Given the description of an element on the screen output the (x, y) to click on. 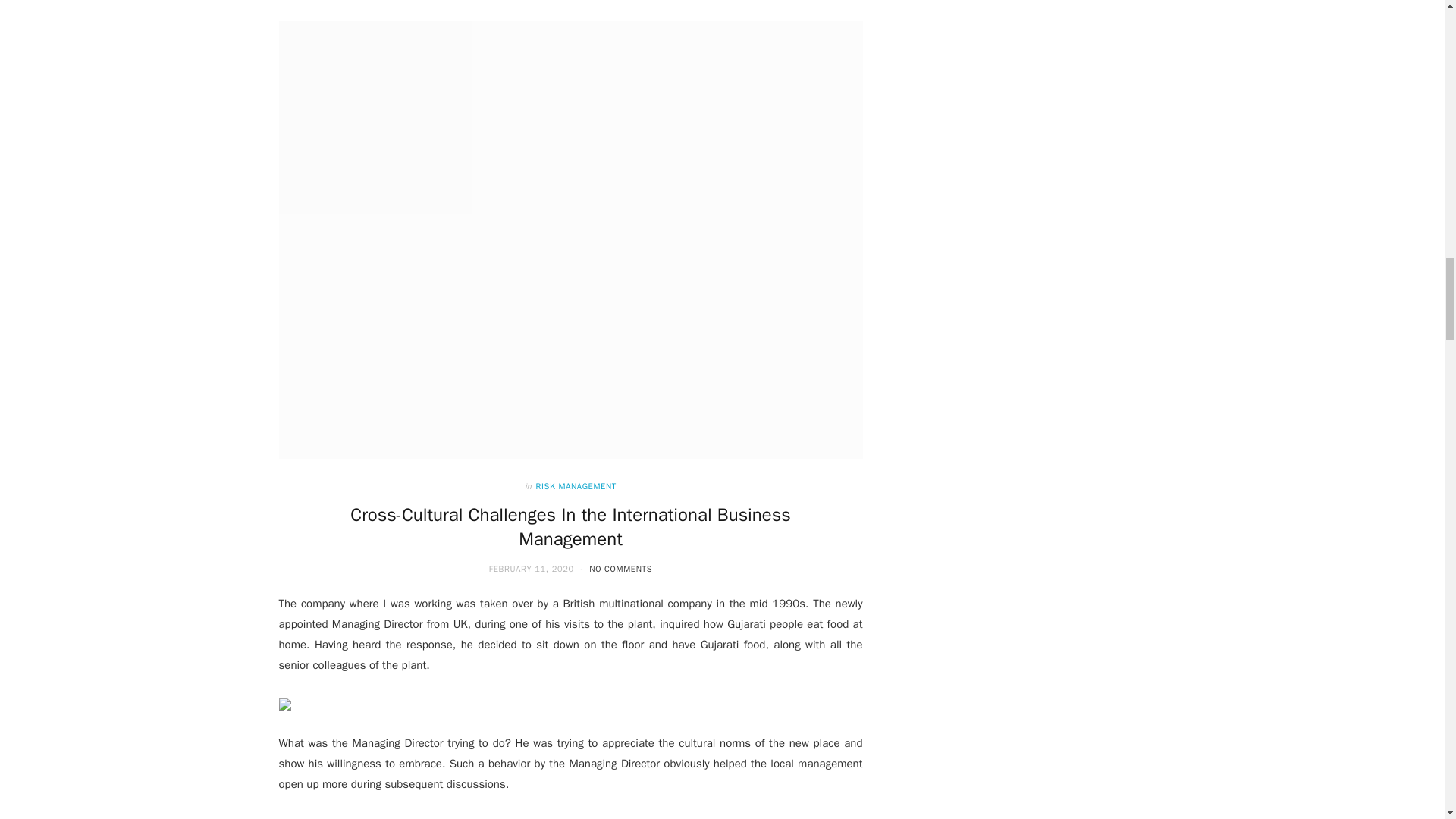
RISK MANAGEMENT (575, 486)
FEBRUARY 11, 2020 (532, 568)
NO COMMENTS (620, 568)
